Given the description of an element on the screen output the (x, y) to click on. 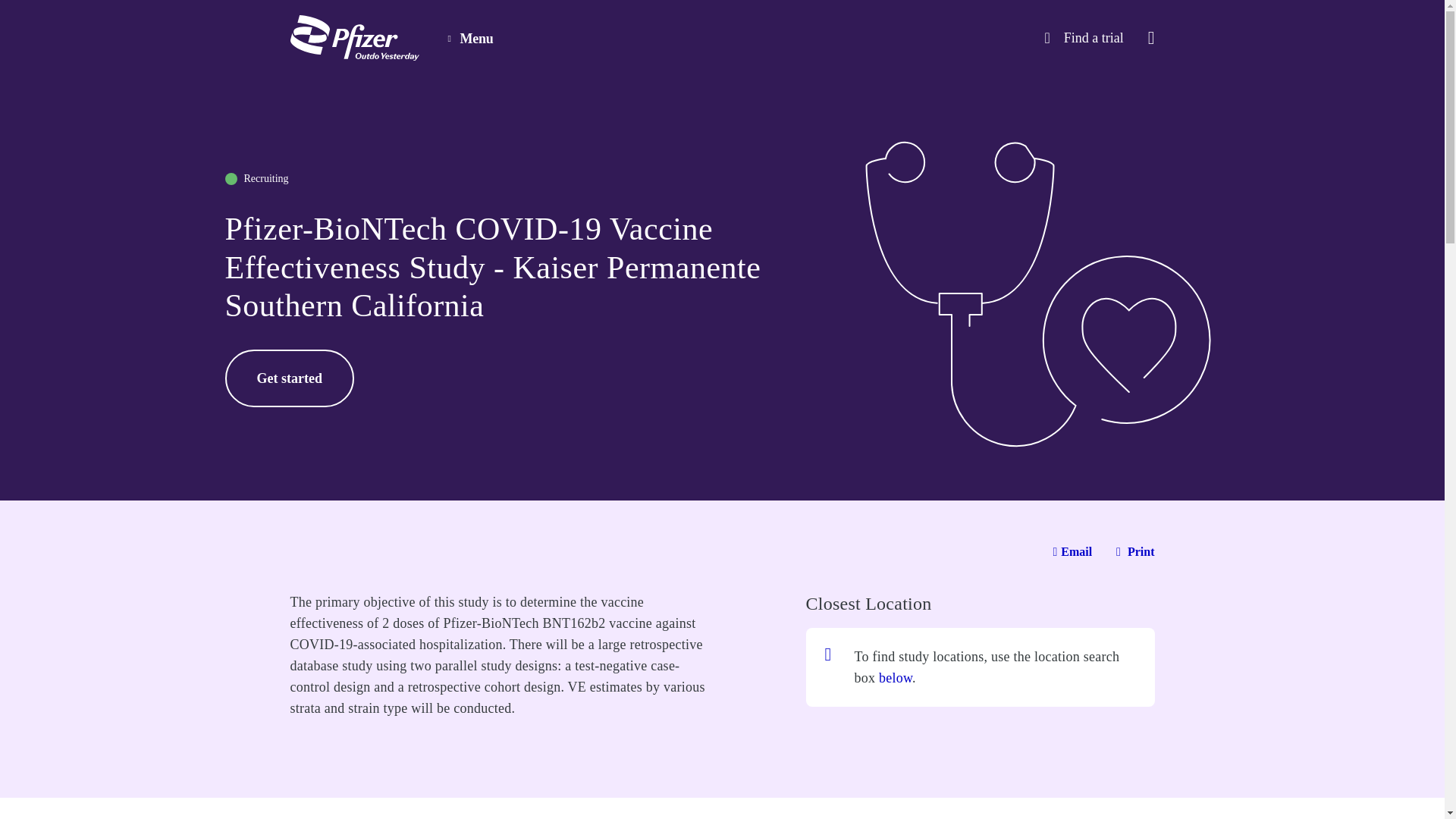
Menu (469, 37)
Get started (288, 378)
Find a trial (1082, 37)
Email (1072, 551)
below (893, 677)
